Given the description of an element on the screen output the (x, y) to click on. 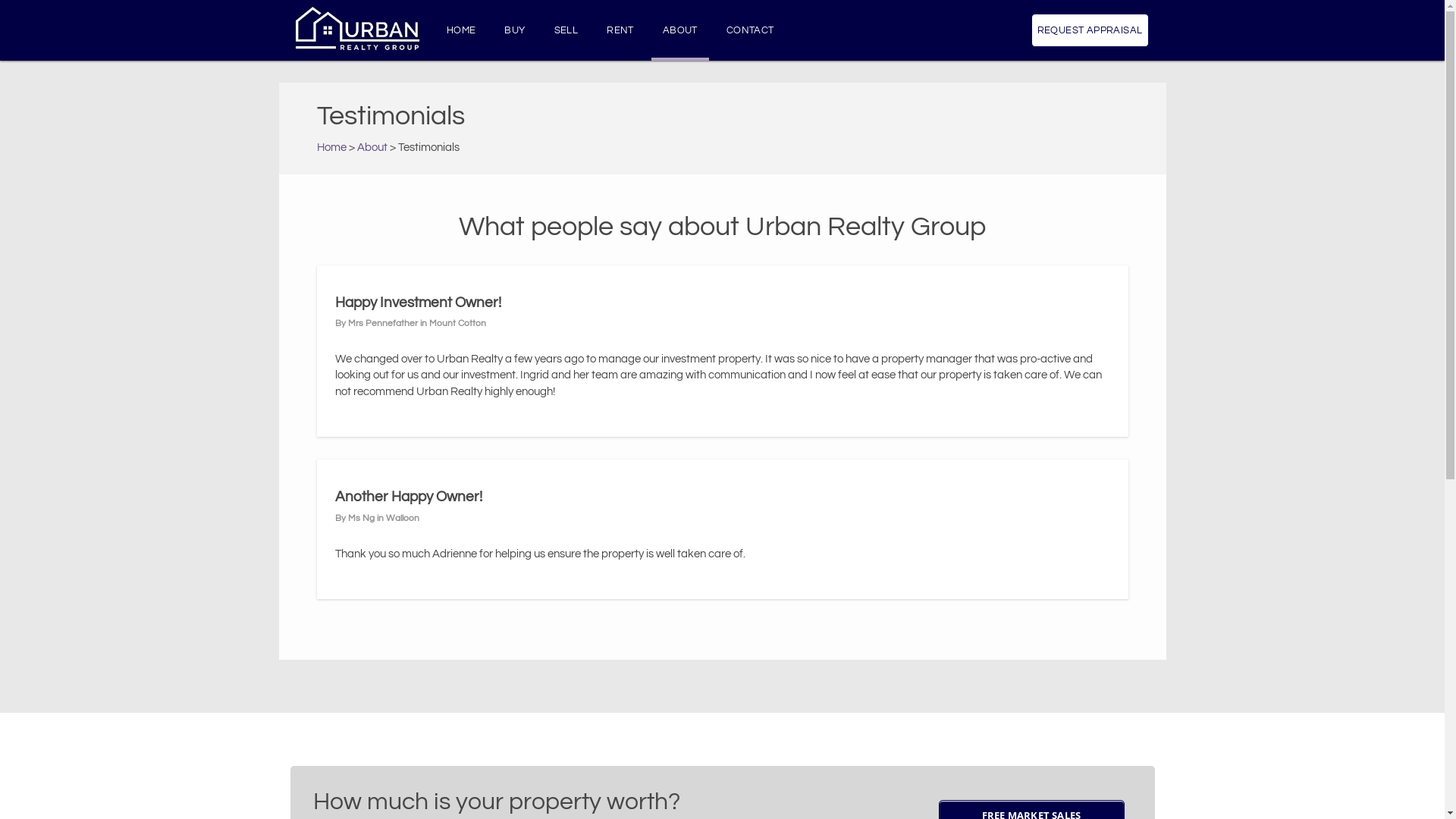
CONTACT Element type: text (750, 30)
HOME Element type: text (461, 30)
RENT Element type: text (620, 30)
Home Element type: text (331, 147)
REQUEST APPRAISAL Element type: text (1089, 30)
SELL Element type: text (565, 30)
About Element type: text (371, 147)
BUY Element type: text (514, 30)
ABOUT Element type: text (680, 30)
